Given the description of an element on the screen output the (x, y) to click on. 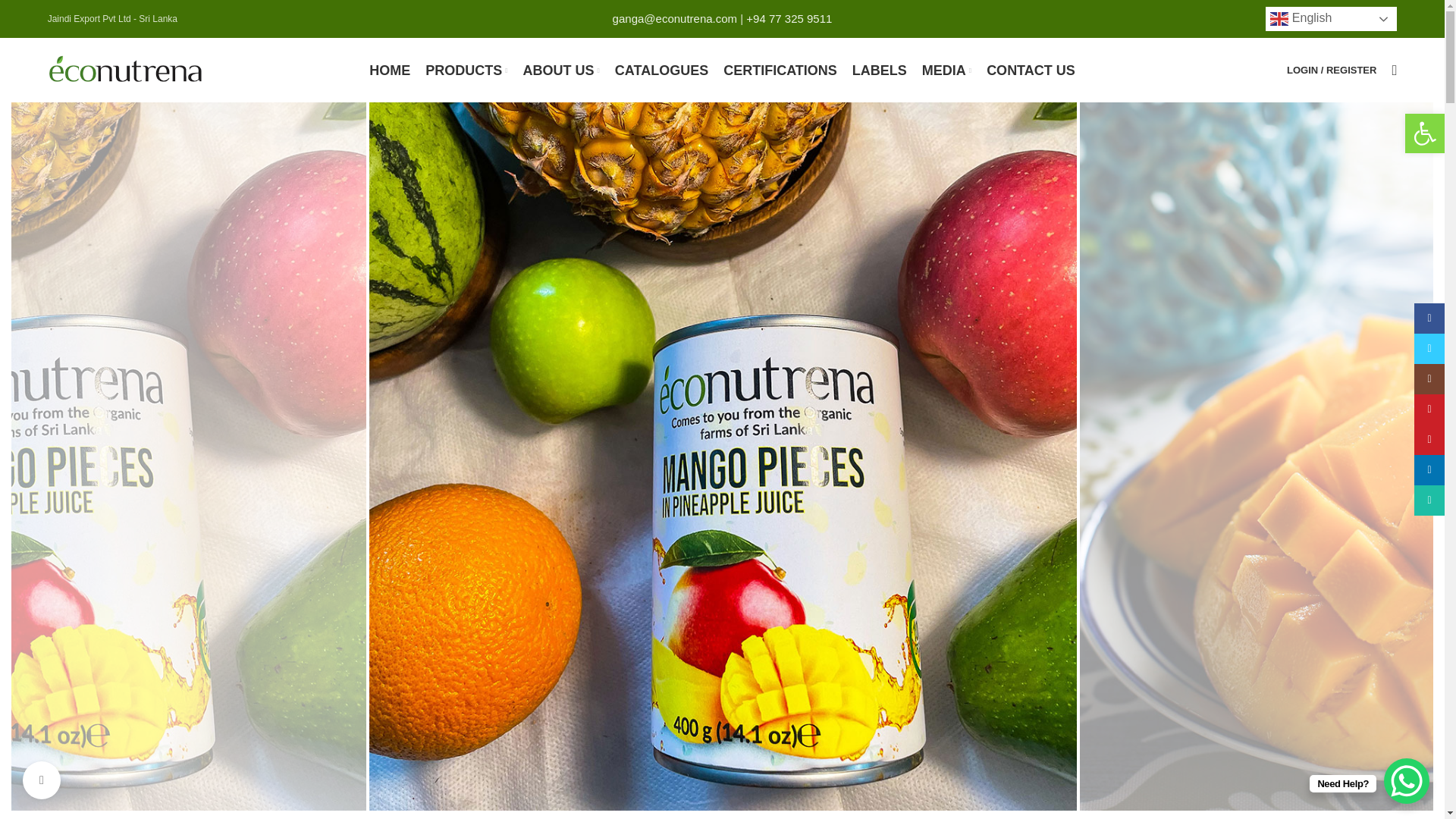
My account (1331, 69)
HOME (389, 69)
English (1330, 18)
PRODUCTS (466, 69)
Accessibility Tools (1424, 133)
ABOUT US (561, 69)
